Given the description of an element on the screen output the (x, y) to click on. 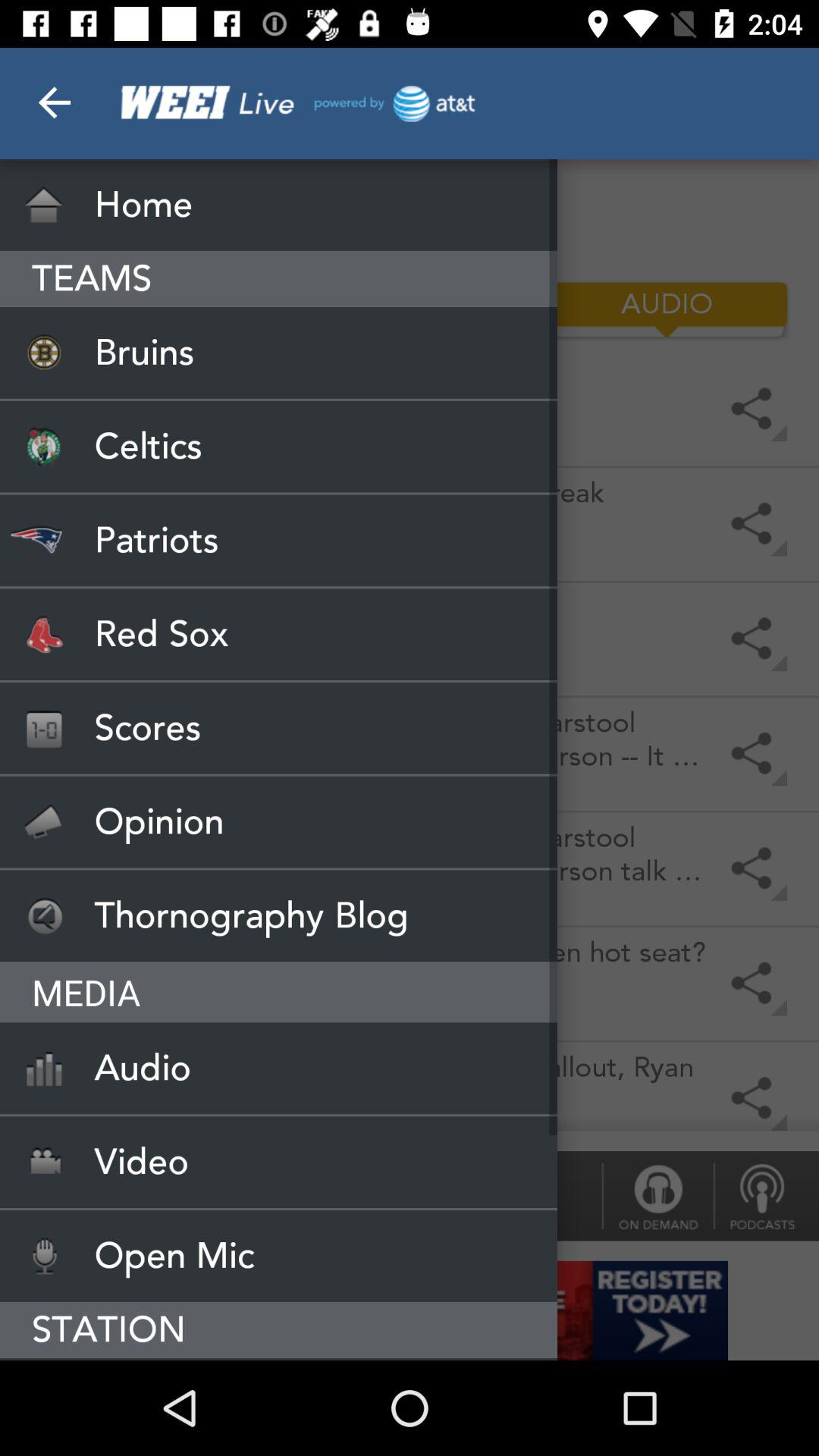
launch scores item (278, 728)
